Given the description of an element on the screen output the (x, y) to click on. 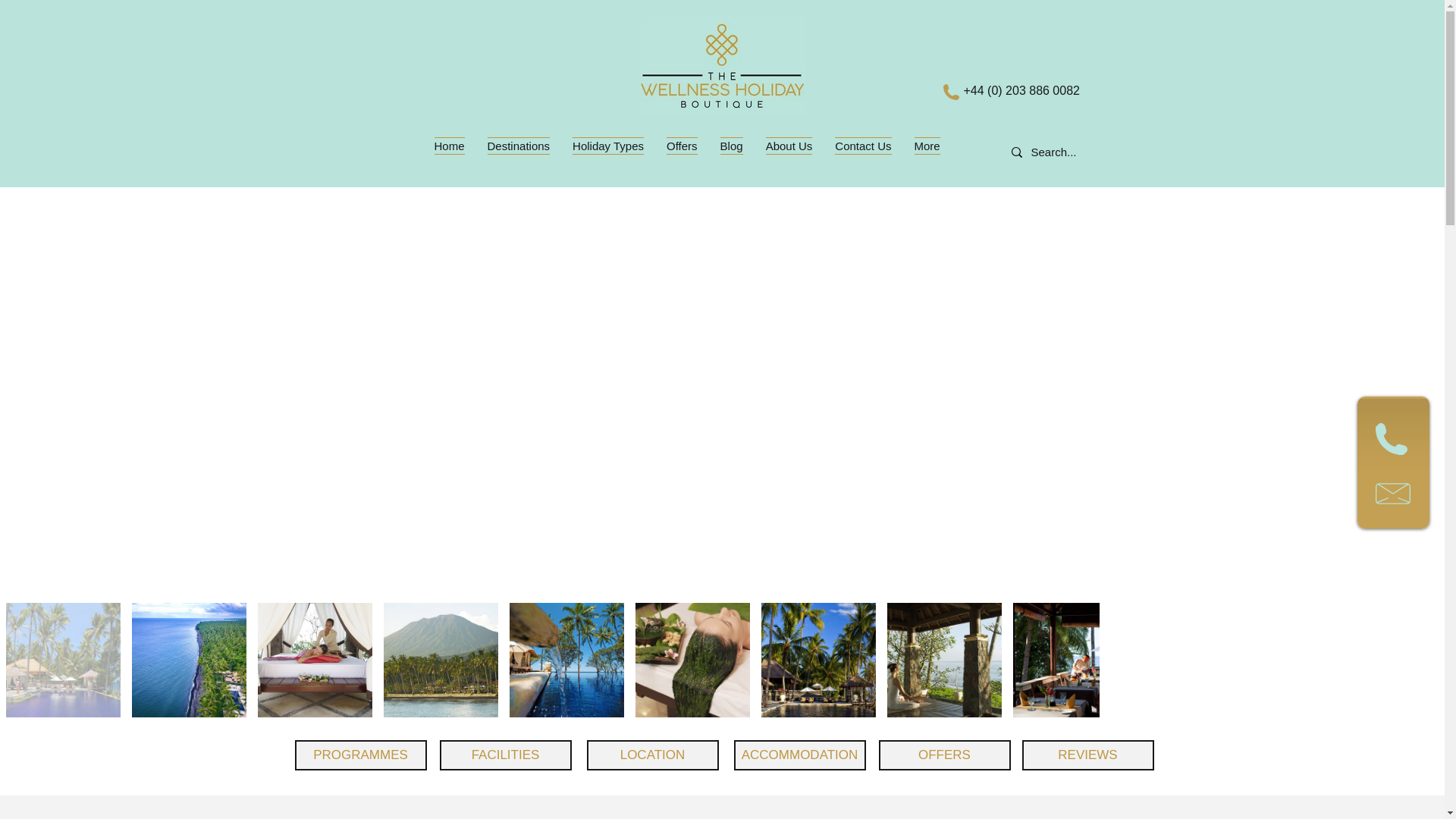
Holiday Types (607, 153)
Home (449, 153)
Destinations (519, 153)
